Given the description of an element on the screen output the (x, y) to click on. 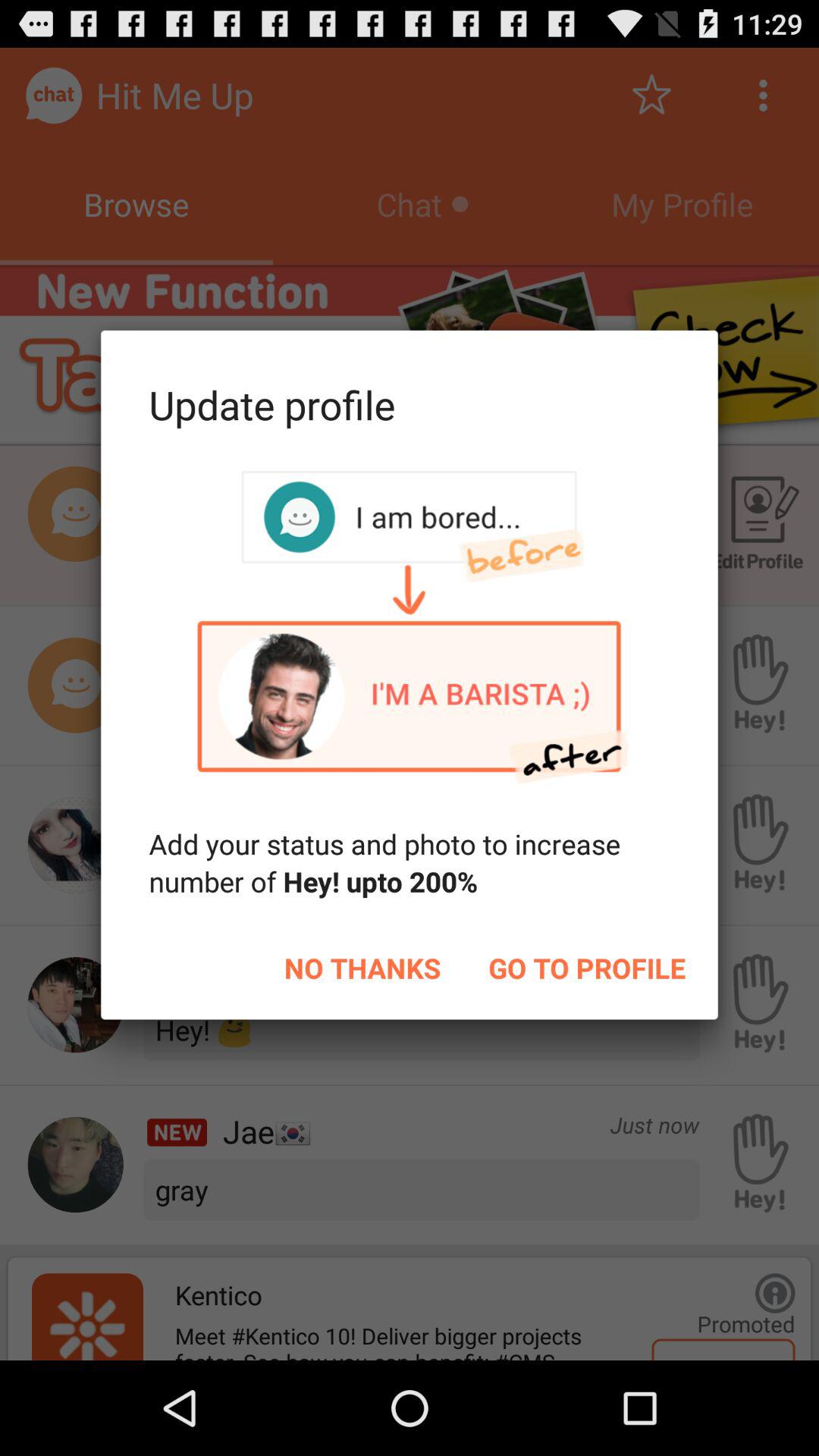
tap the go to profile (586, 967)
